Given the description of an element on the screen output the (x, y) to click on. 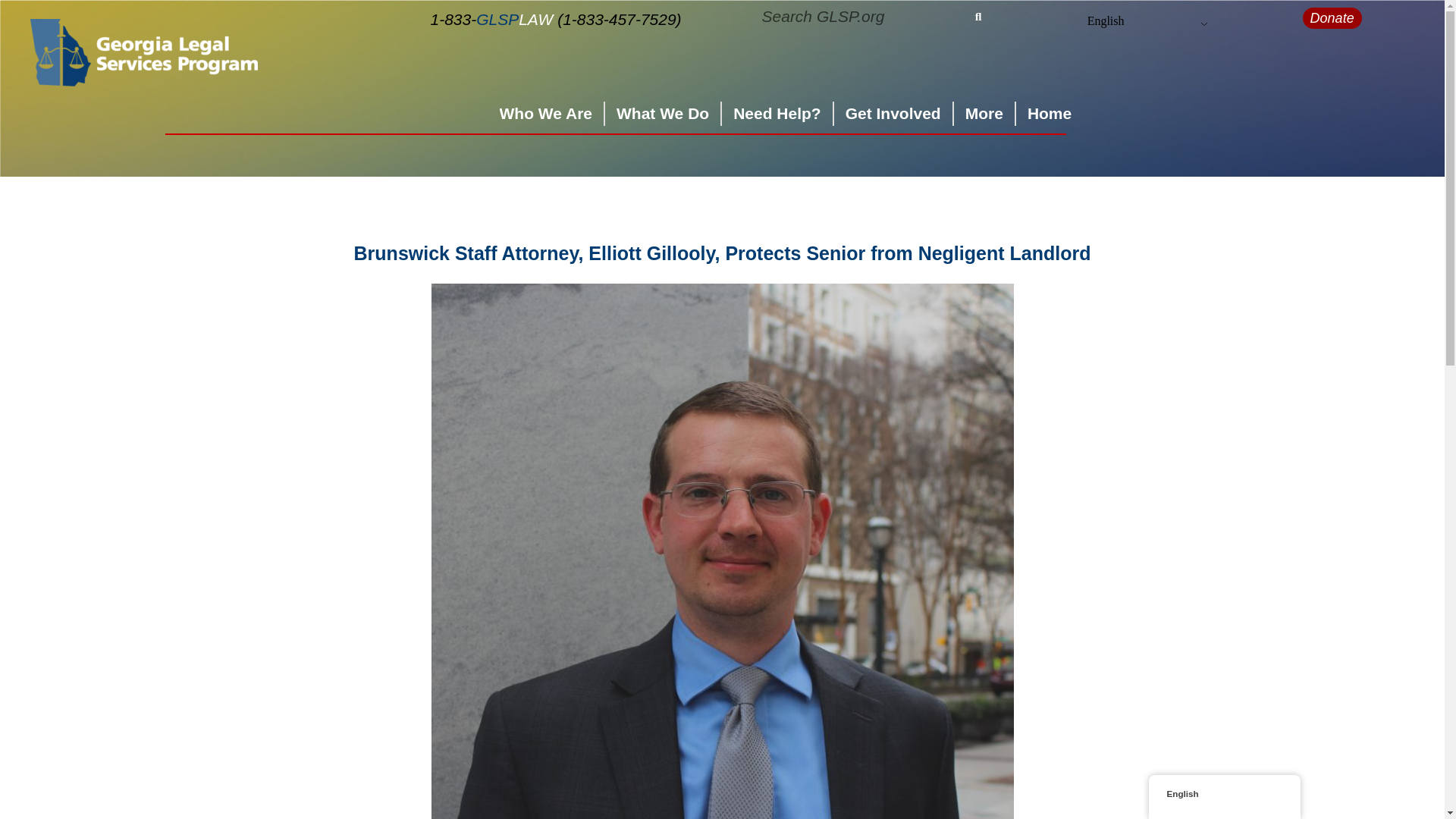
English (1105, 21)
Get Involved (892, 113)
More (984, 113)
What We Do (662, 113)
Home (1049, 113)
English (1105, 21)
Need Help? (777, 113)
Who We Are (545, 113)
Donate (1332, 17)
